Given the description of an element on the screen output the (x, y) to click on. 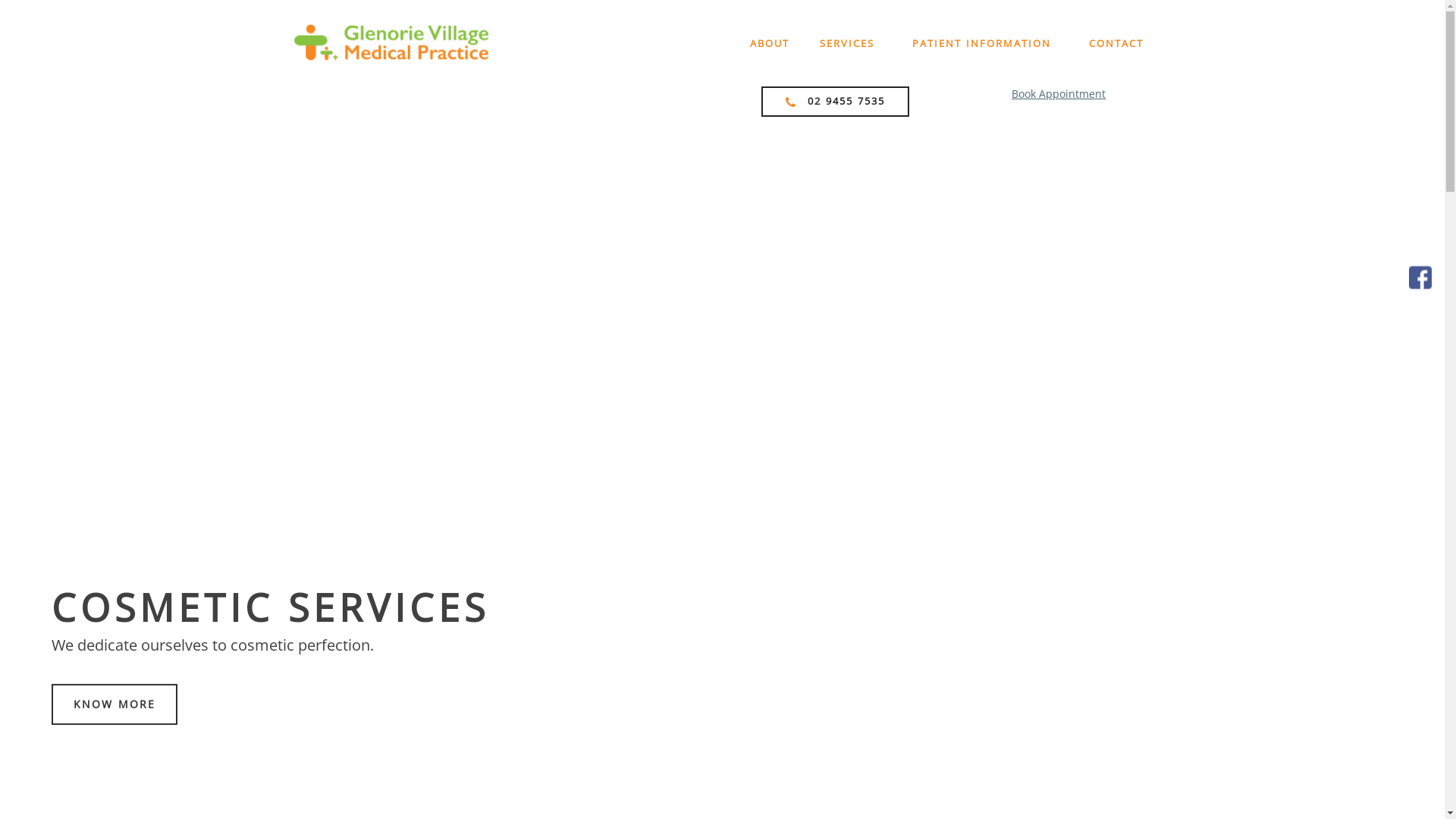
CONTACT Element type: text (1115, 43)
KNOW MORE Element type: text (170, 741)
02 9455 7535 Element type: text (835, 101)
PATIENT INFORMATION Element type: text (980, 43)
SERVICES Element type: text (845, 43)
Facebook Element type: hover (1419, 276)
Book Appointment Element type: text (1058, 93)
ABOUT Element type: text (768, 43)
